Given the description of an element on the screen output the (x, y) to click on. 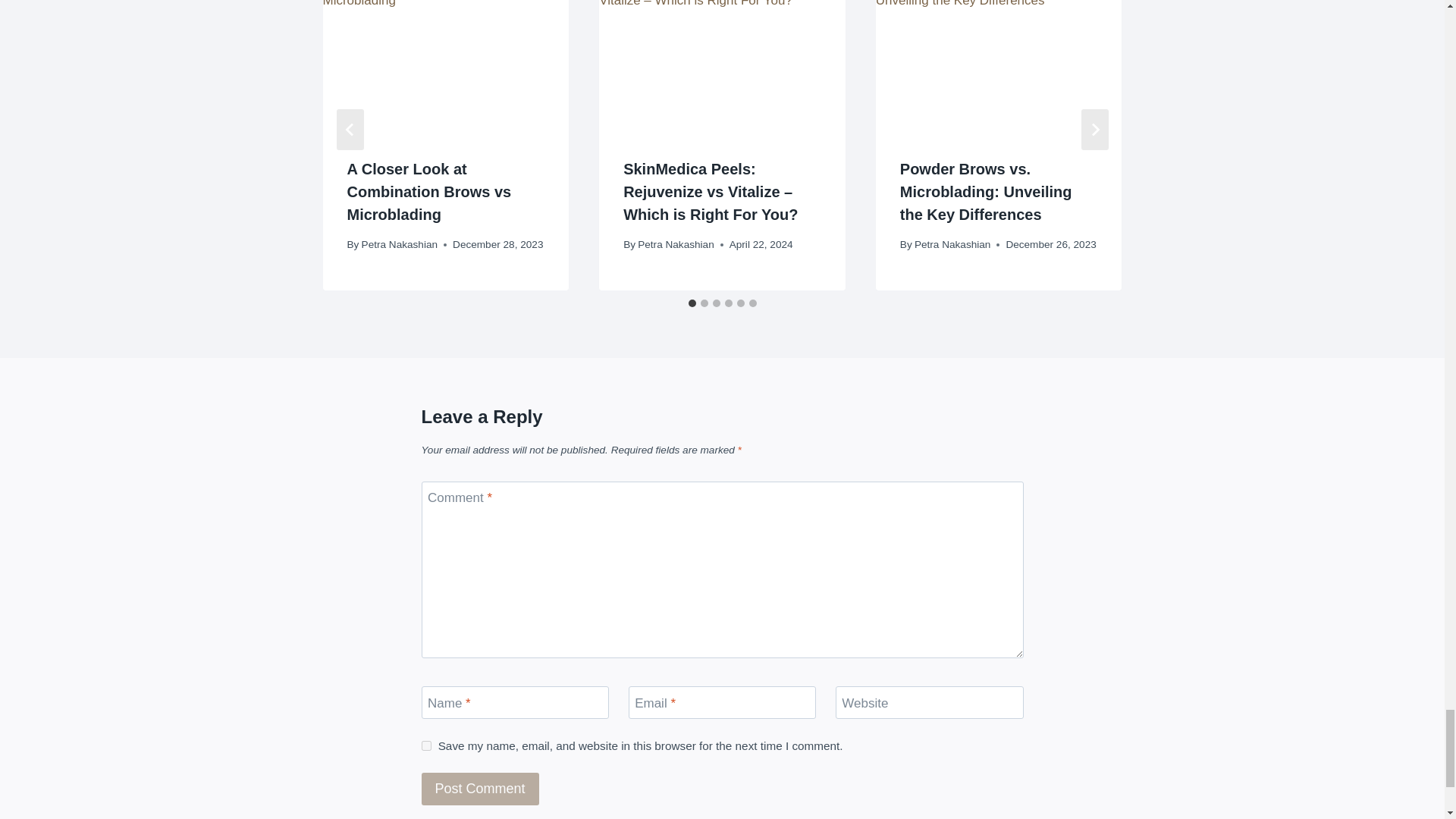
Petra Nakashian (399, 244)
A Closer Look at Combination Brows vs Microblading (429, 191)
Post Comment (480, 789)
yes (426, 746)
